Given the description of an element on the screen output the (x, y) to click on. 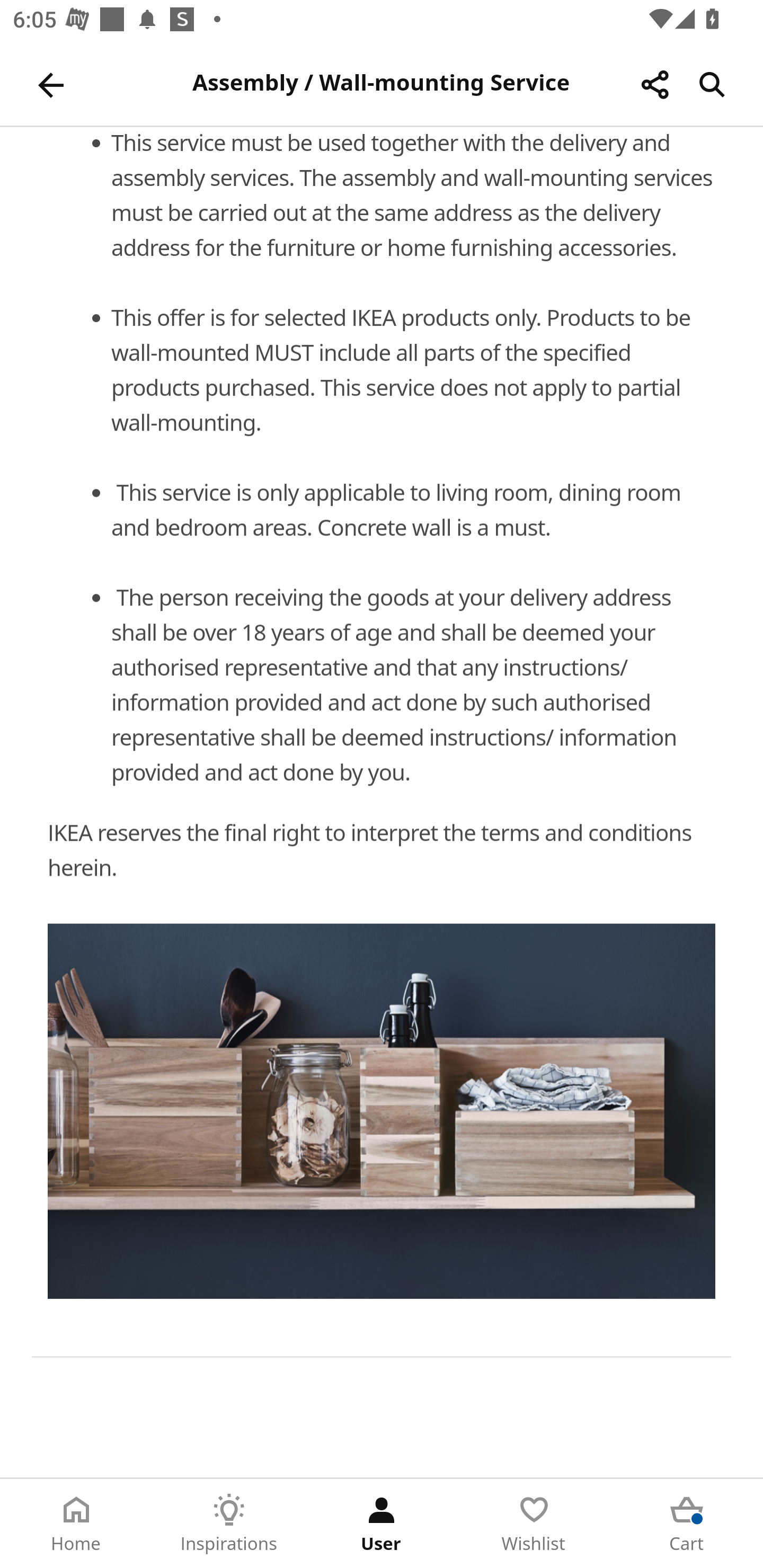
Home
Tab 1 of 5 (76, 1522)
Inspirations
Tab 2 of 5 (228, 1522)
User
Tab 3 of 5 (381, 1522)
Wishlist
Tab 4 of 5 (533, 1522)
Cart
Tab 5 of 5 (686, 1522)
